Given the description of an element on the screen output the (x, y) to click on. 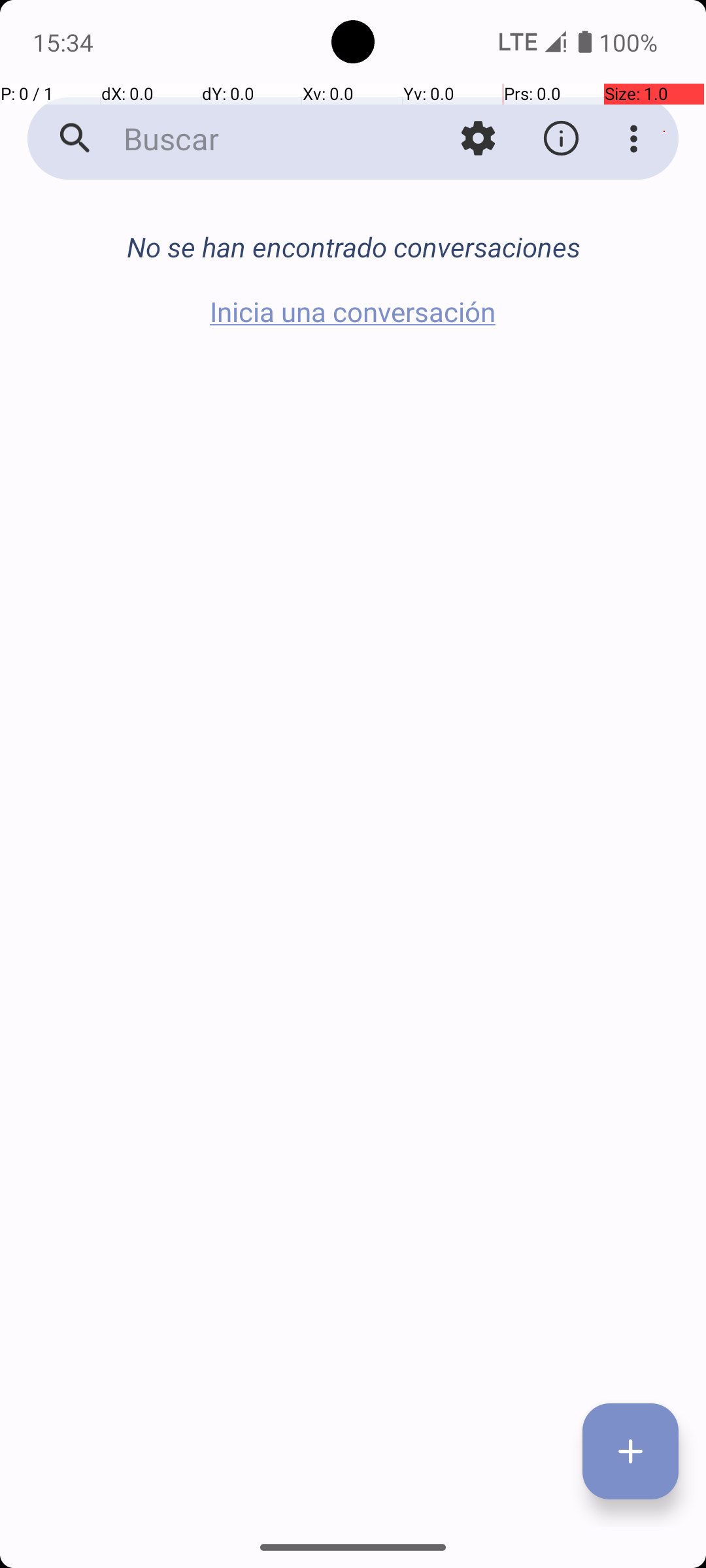
No se han encontrado conversaciones Element type: android.widget.TextView (353, 246)
Inicia una conversación Element type: android.widget.TextView (352, 311)
